Given the description of an element on the screen output the (x, y) to click on. 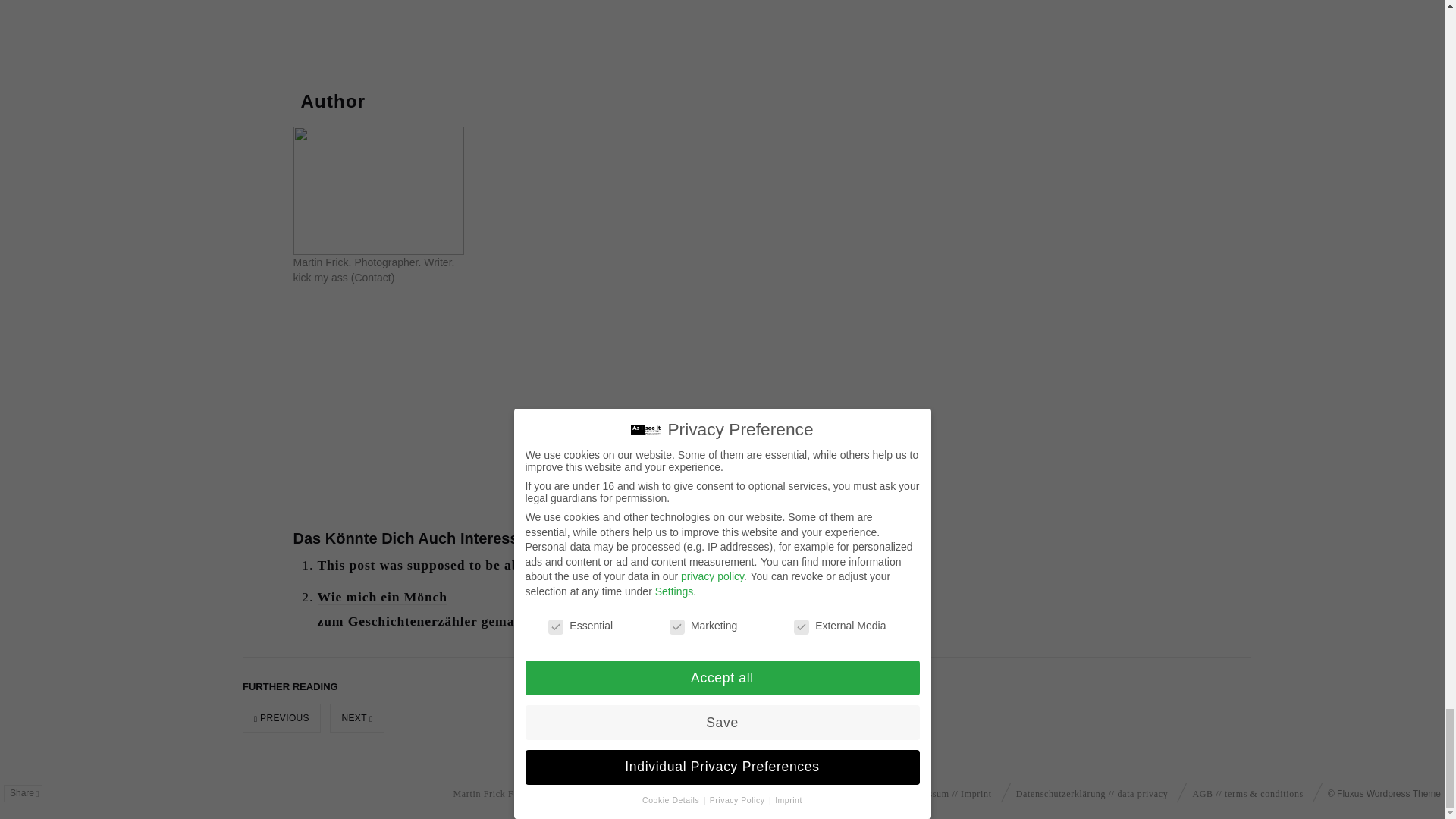
This post was supposed to be about LAUREN. (462, 565)
PREVIOUS (281, 717)
As I See It Galerie (658, 791)
This post was supposed to be about LAUREN. (462, 565)
NEXT (357, 717)
Strategische Kommunikationsberatung (799, 791)
